Given the description of an element on the screen output the (x, y) to click on. 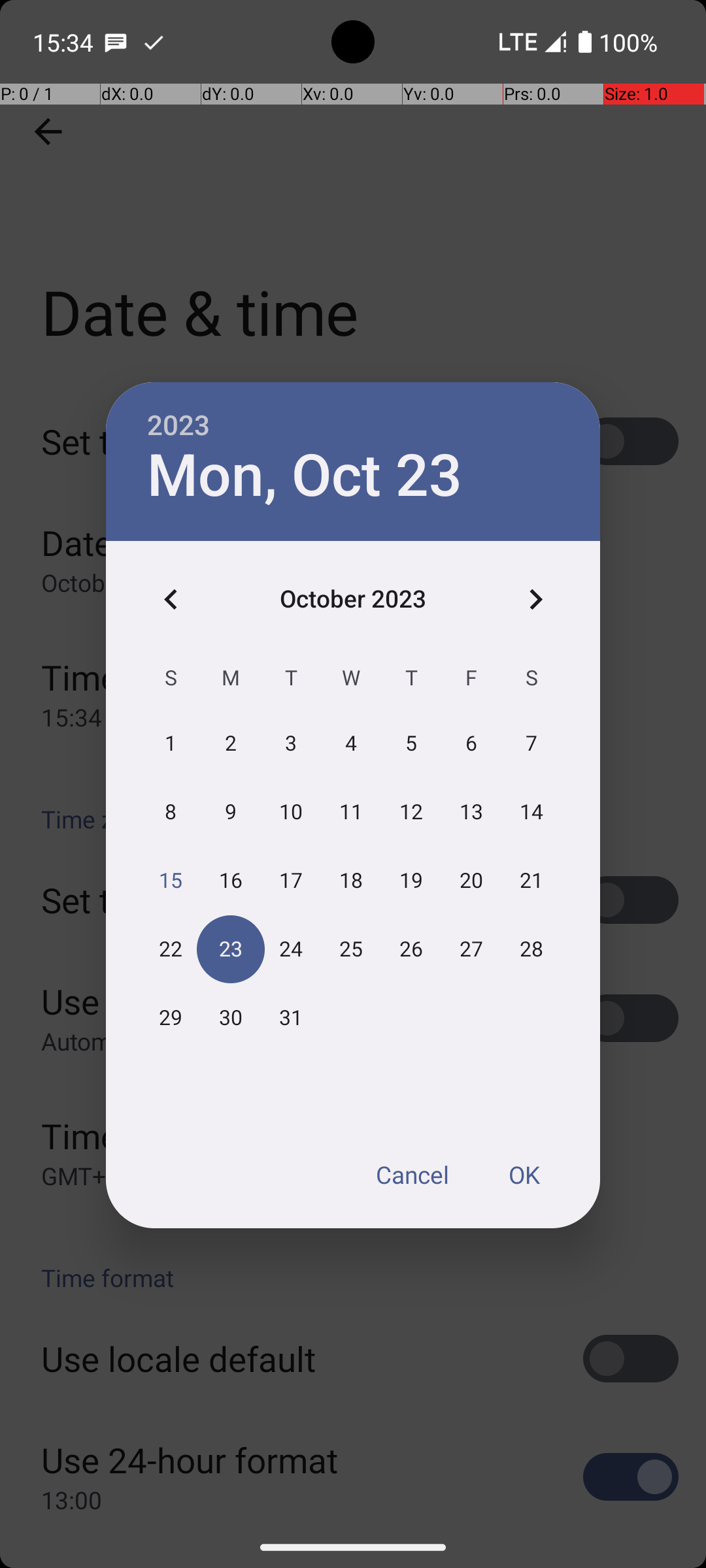
Mon, Oct 23 Element type: android.widget.TextView (304, 475)
